Given the description of an element on the screen output the (x, y) to click on. 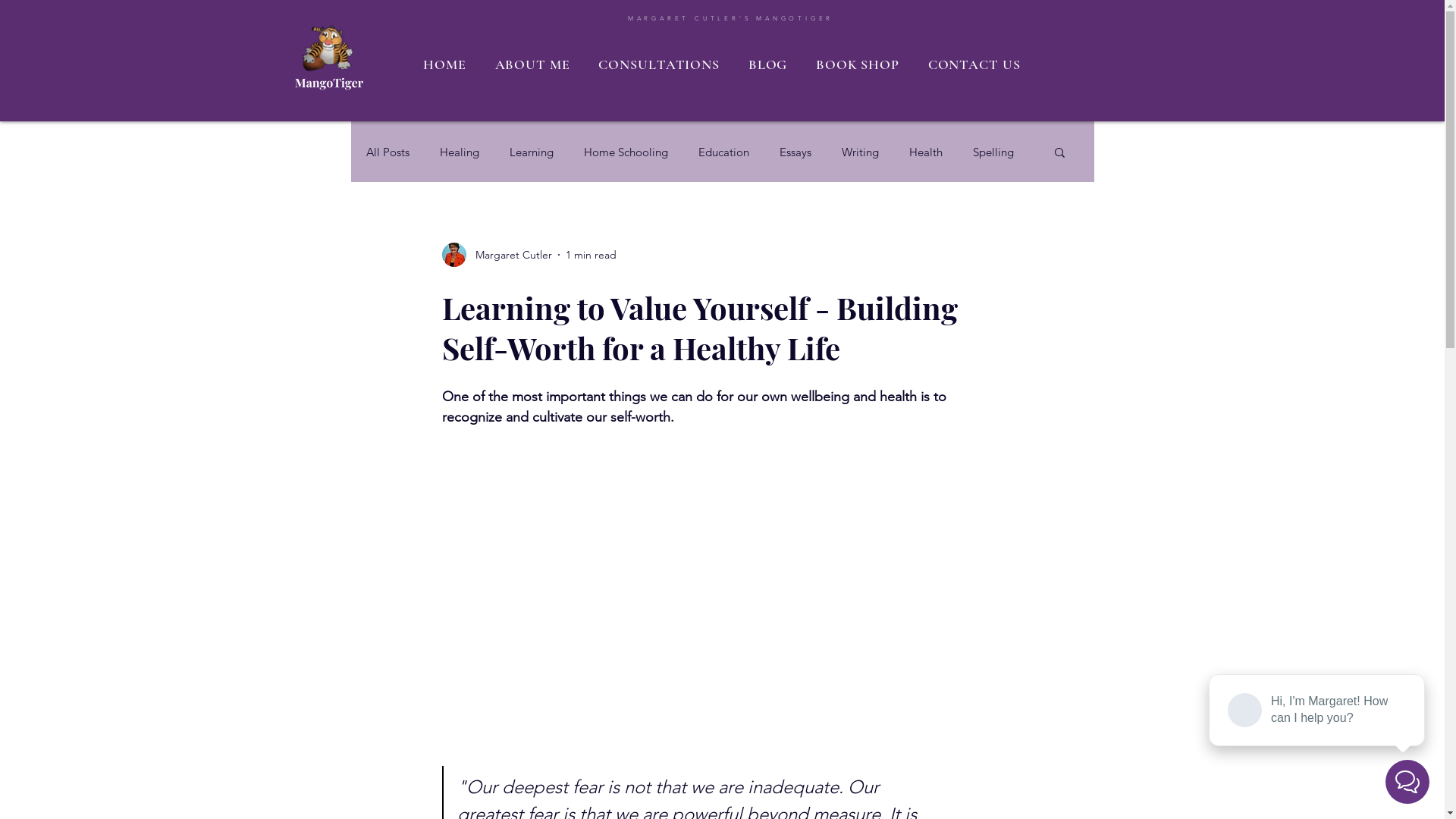
Spelling Element type: text (992, 151)
Healing Element type: text (459, 151)
Education Element type: text (722, 151)
Health Element type: text (924, 151)
BOOK SHOP Element type: text (857, 64)
ABOUT ME Element type: text (532, 64)
Essays Element type: text (795, 151)
Margaret Cutler Element type: text (496, 254)
BLOG Element type: text (767, 64)
Learning Element type: text (531, 151)
All Posts Element type: text (386, 151)
Home Schooling Element type: text (625, 151)
CONTACT US Element type: text (974, 64)
HOME Element type: text (444, 64)
CONSULTATIONS Element type: text (659, 64)
Writing Element type: text (859, 151)
